Given the description of an element on the screen output the (x, y) to click on. 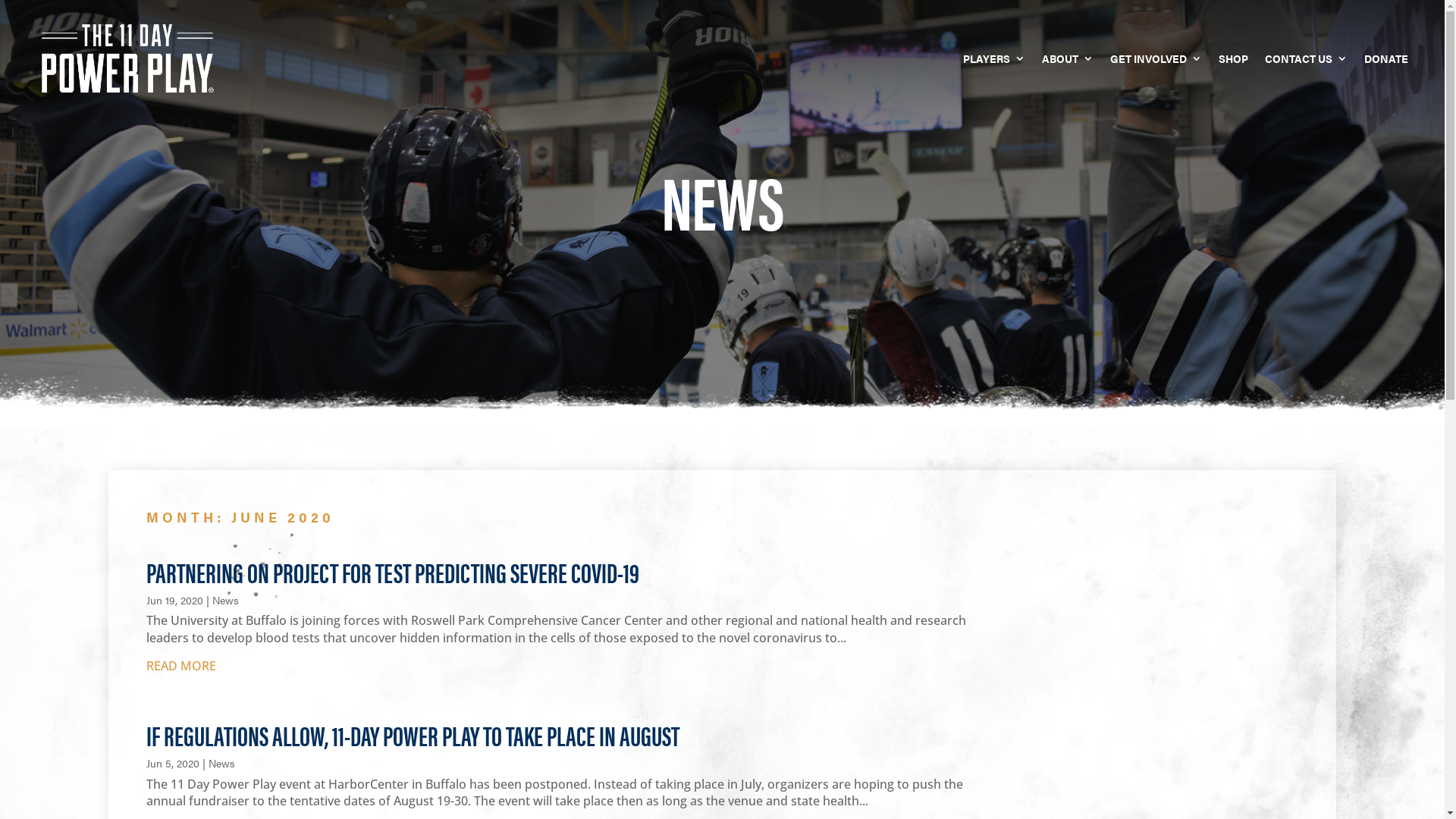
CONTACT US Element type: text (1305, 58)
News Element type: text (225, 599)
PARTNERING ON PROJECT FOR TEST PREDICTING SEVERE COVID-19 Element type: text (392, 571)
News Element type: text (221, 762)
READ MORE Element type: text (570, 660)
SHOP Element type: text (1233, 58)
PLAYERS Element type: text (994, 58)
GET INVOLVED Element type: text (1155, 58)
ABOUT Element type: text (1067, 58)
DONATE Element type: text (1386, 58)
